Given the description of an element on the screen output the (x, y) to click on. 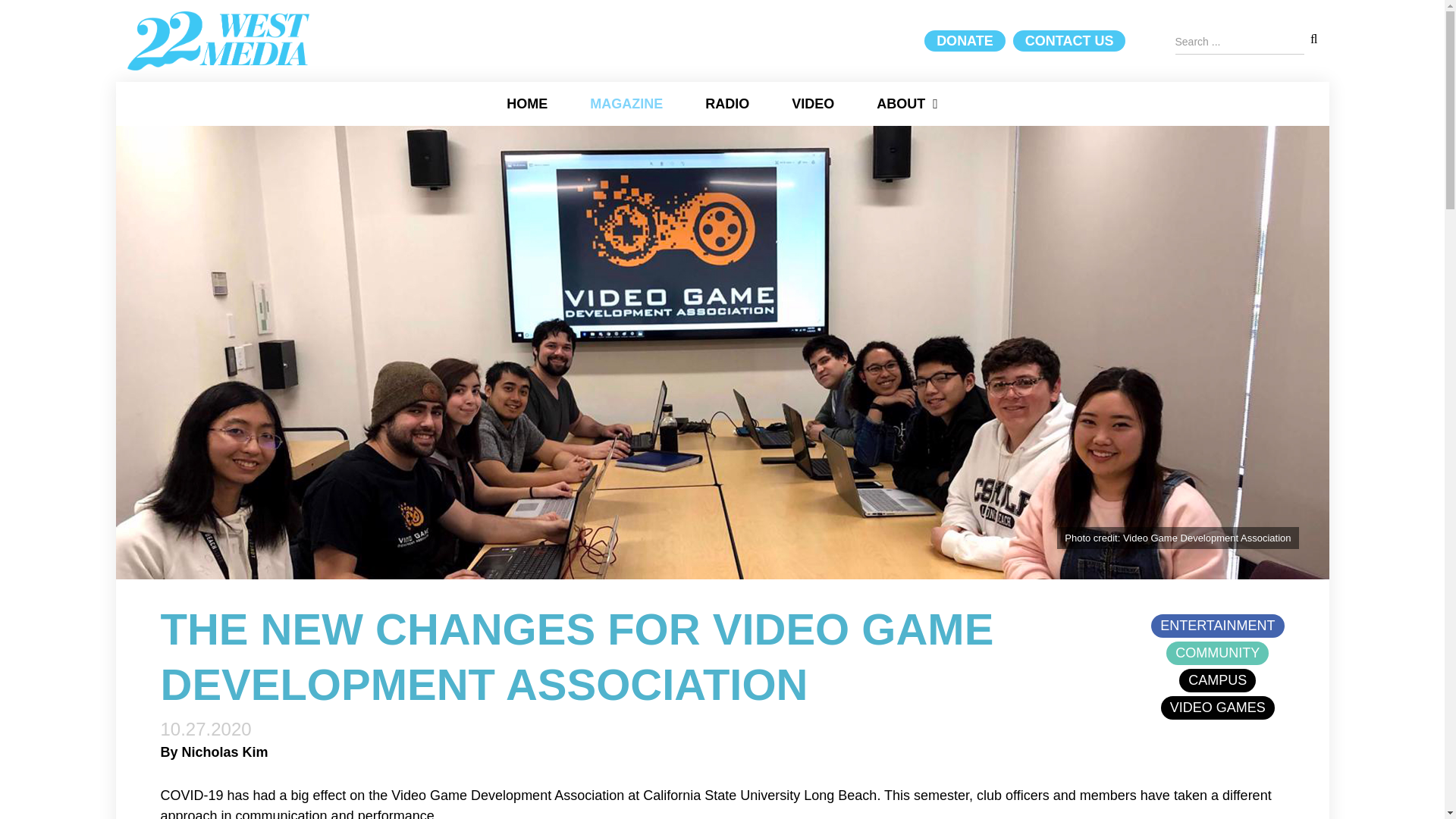
ABOUT Element type: text (907, 103)
MAGAZINE Element type: text (626, 103)
COMMUNITY Element type: text (1217, 653)
DONATE Element type: text (964, 40)
CONTACT US Element type: text (1069, 40)
CAMPUS Element type: text (1217, 680)
RADIO Element type: text (727, 103)
VIDEO GAMES Element type: text (1217, 707)
VIDEO Element type: text (812, 103)
HOME Element type: text (526, 103)
ENTERTAINMENT Element type: text (1217, 625)
